Given the description of an element on the screen output the (x, y) to click on. 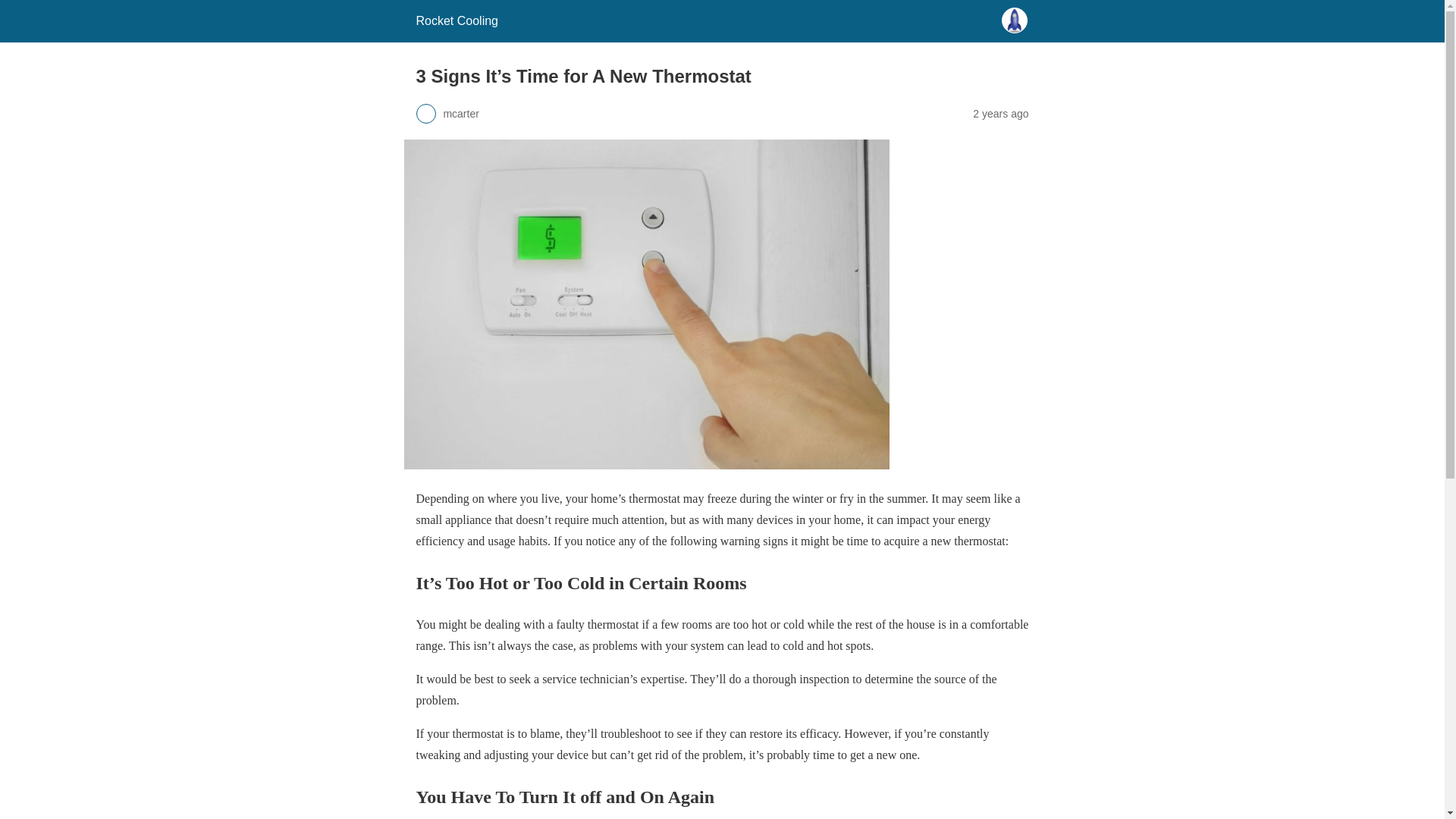
Rocket Cooling (455, 20)
